Given the description of an element on the screen output the (x, y) to click on. 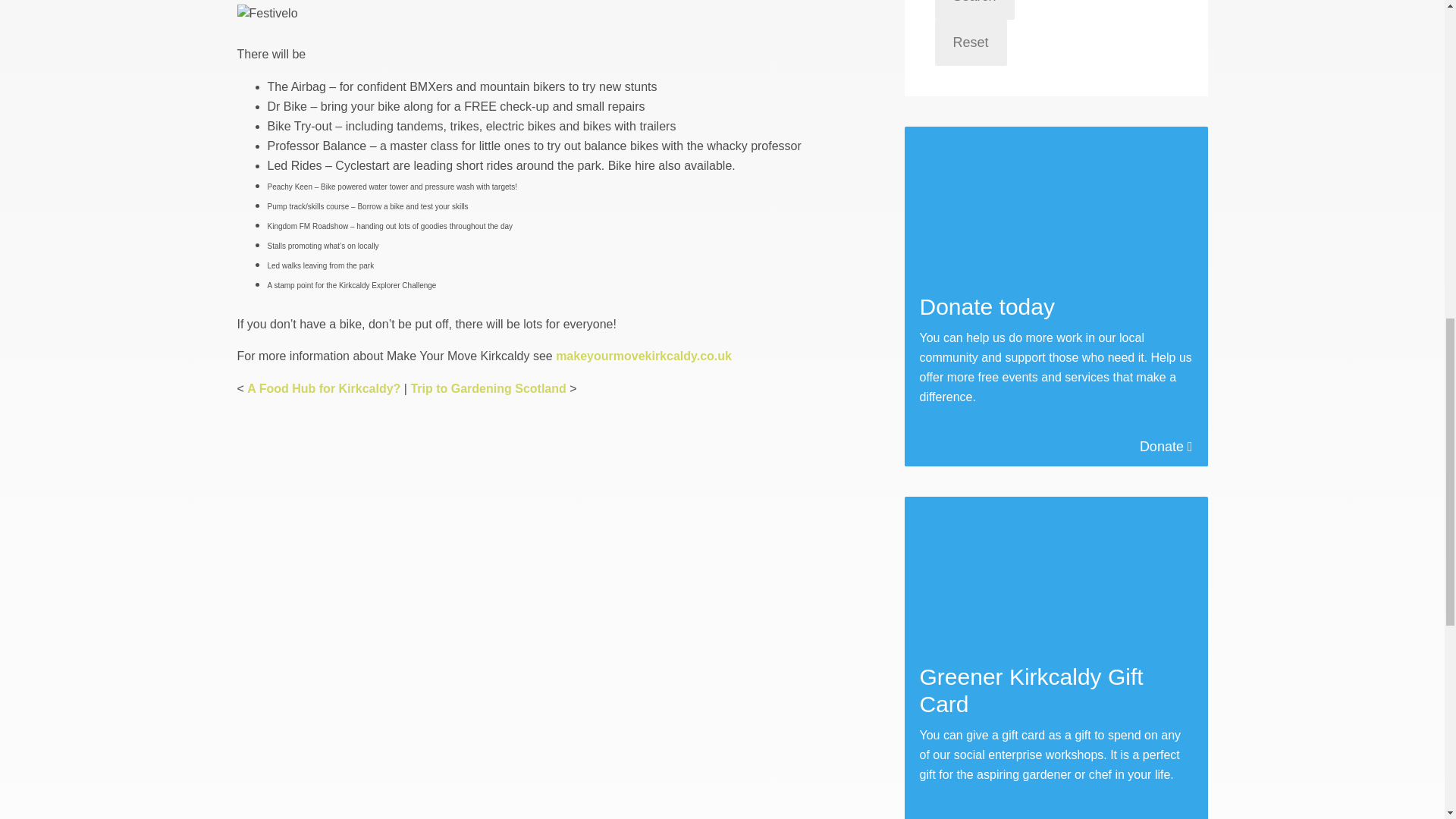
makeyourmovekirkcaldy.co.uk (644, 355)
makeyourmovekirkcaldy.co.uk (644, 355)
